Given the description of an element on the screen output the (x, y) to click on. 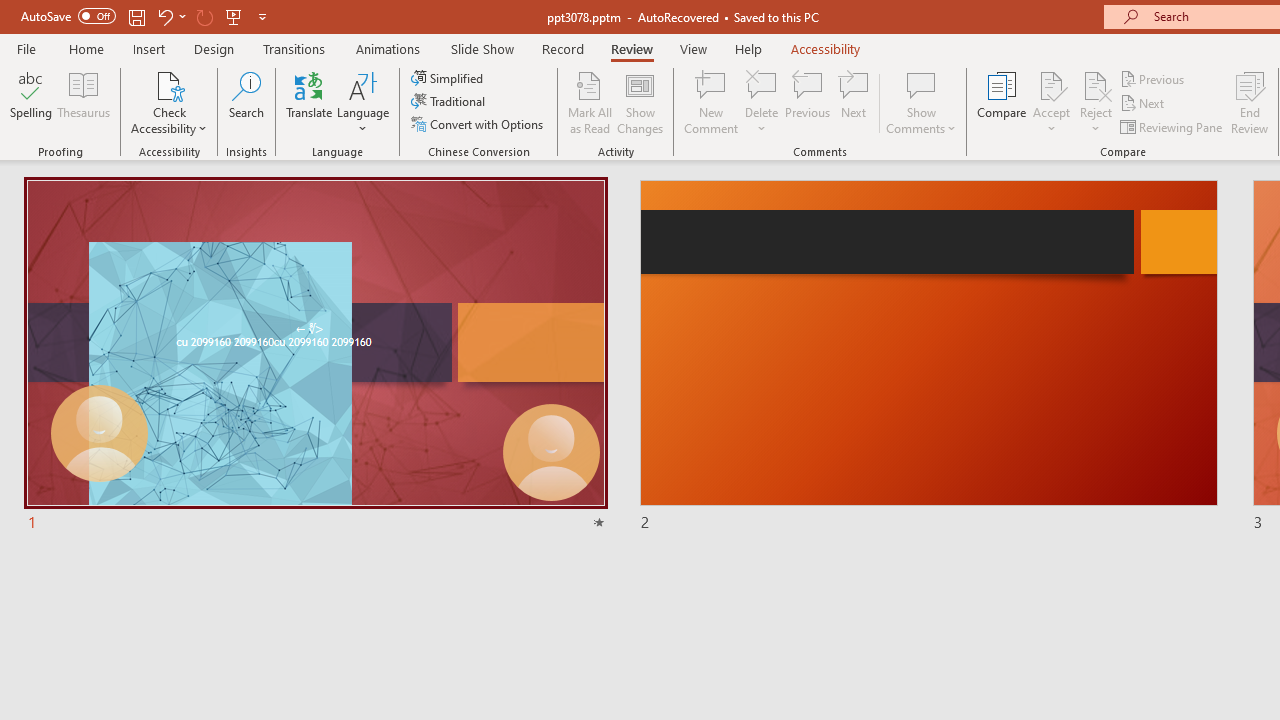
Check Accessibility (169, 102)
Spelling... (31, 102)
Delete (762, 102)
Customize Quick Access Toolbar (262, 15)
System (10, 11)
Traditional (449, 101)
Insert (149, 48)
Record (562, 48)
From Beginning (234, 15)
Review (631, 48)
Simplified (449, 78)
Reviewing Pane (1172, 126)
Search (246, 102)
Accept Change (1051, 84)
Convert with Options... (479, 124)
